Given the description of an element on the screen output the (x, y) to click on. 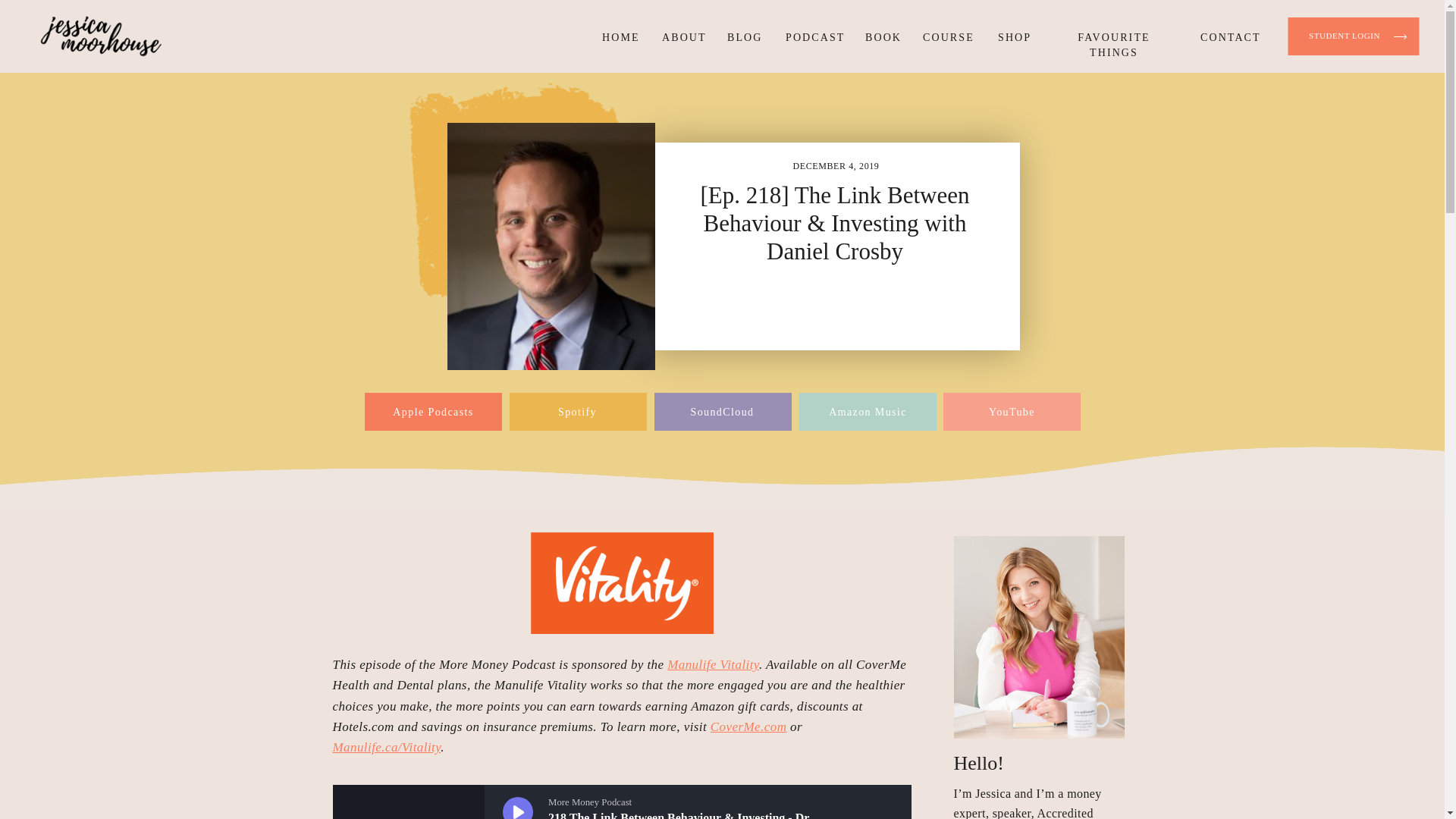
STUDENT LOGIN (1344, 37)
BLOG (742, 37)
SoundCloud (721, 409)
ABOUT (681, 37)
COURSE (947, 37)
Apple Podcasts (433, 409)
BOOK (880, 37)
Amazon Music (867, 409)
Spotify (577, 409)
CONTACT (1227, 37)
